Given the description of an element on the screen output the (x, y) to click on. 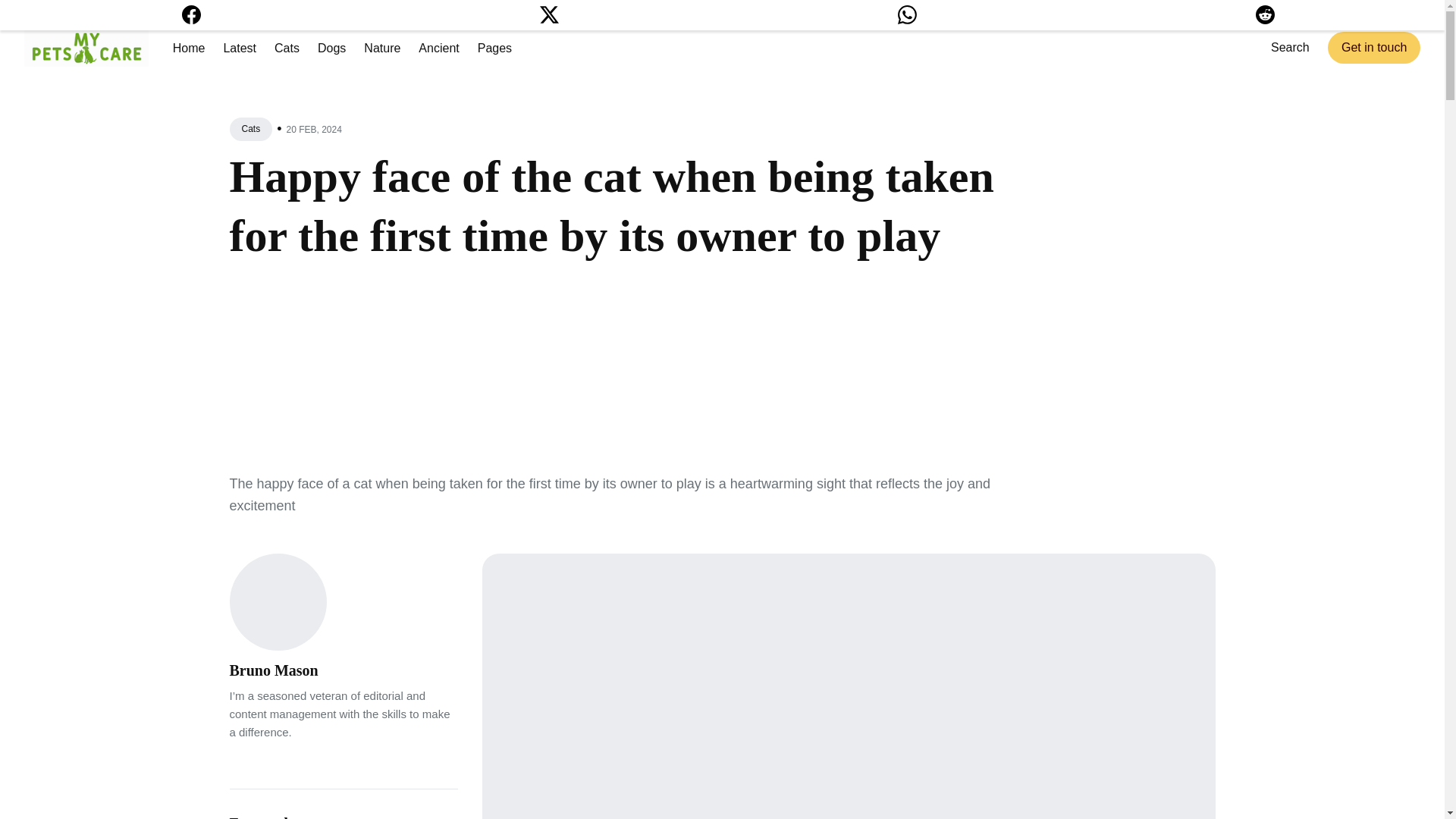
Share on Facebook (191, 18)
Home (189, 47)
Cats (250, 128)
Ancient (438, 47)
Nature (382, 47)
Dogs (331, 47)
Bruno Mason (272, 669)
Get in touch (1374, 47)
Latest (239, 47)
Share on WhatsApp (907, 18)
